Given the description of an element on the screen output the (x, y) to click on. 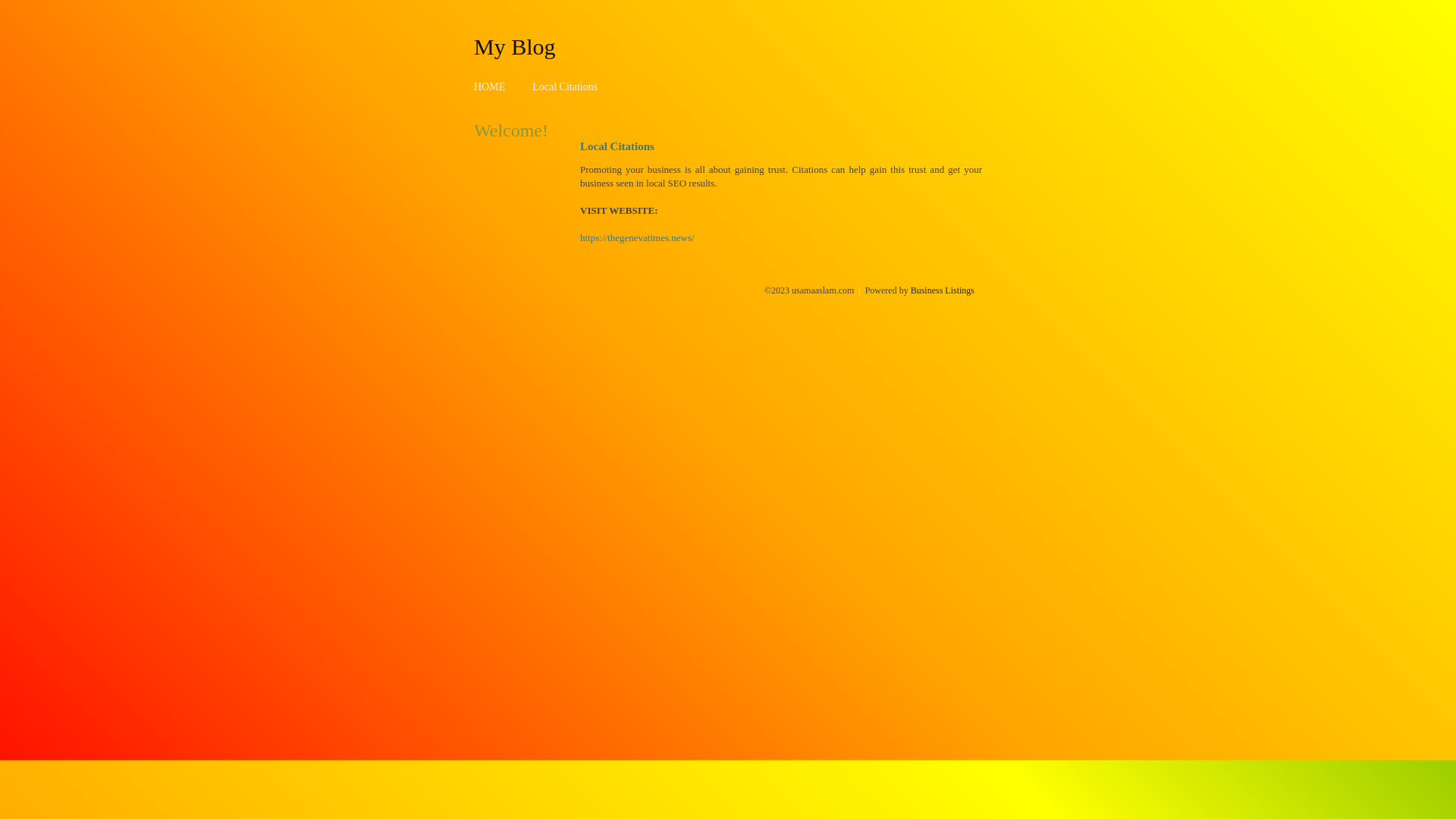
Business Listings Element type: text (942, 290)
My Blog Element type: text (514, 46)
Local Citations Element type: text (564, 86)
https://thegenevatimes.news/ Element type: text (637, 237)
HOME Element type: text (489, 86)
